Given the description of an element on the screen output the (x, y) to click on. 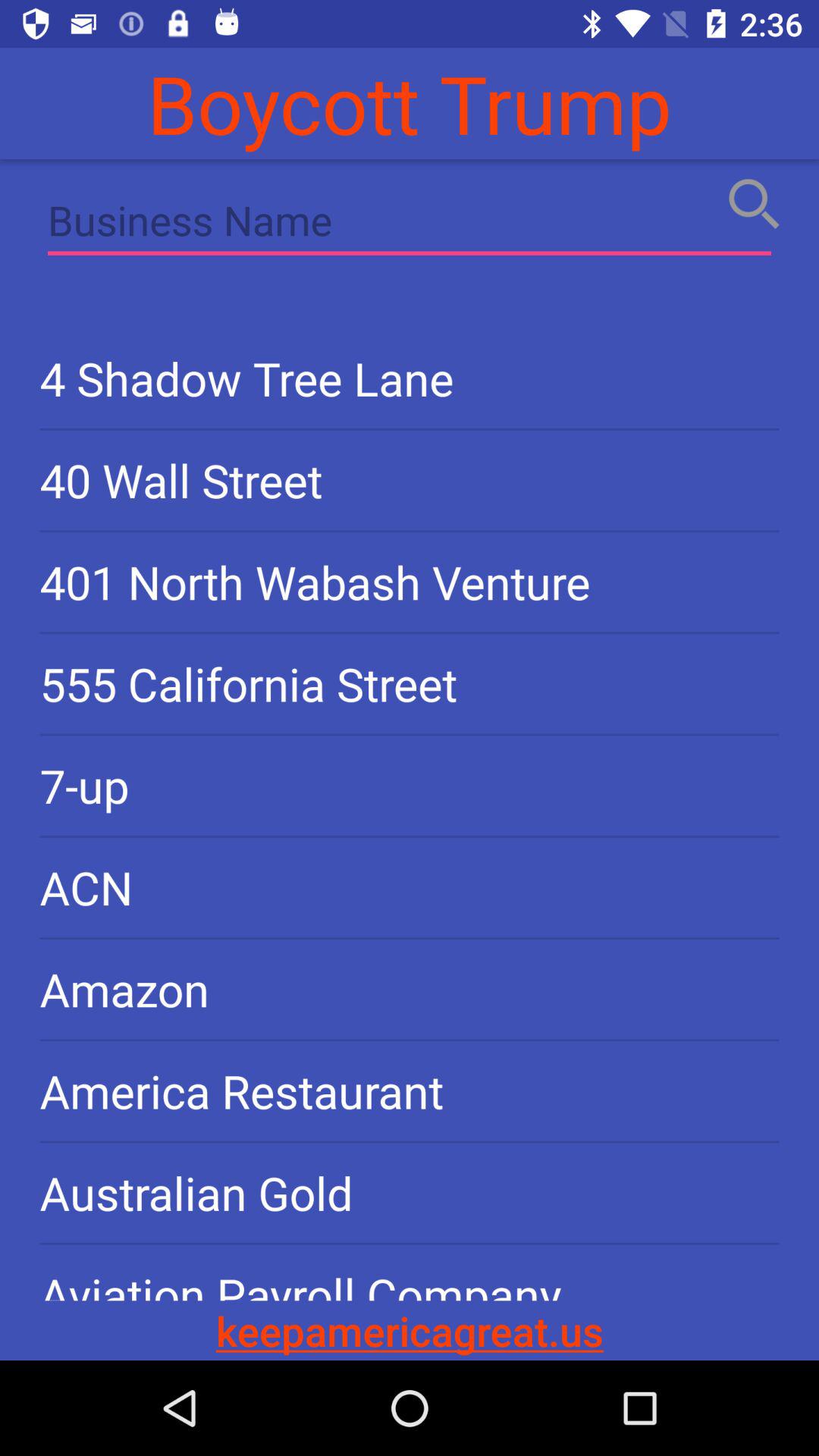
open 7-up item (409, 785)
